Given the description of an element on the screen output the (x, y) to click on. 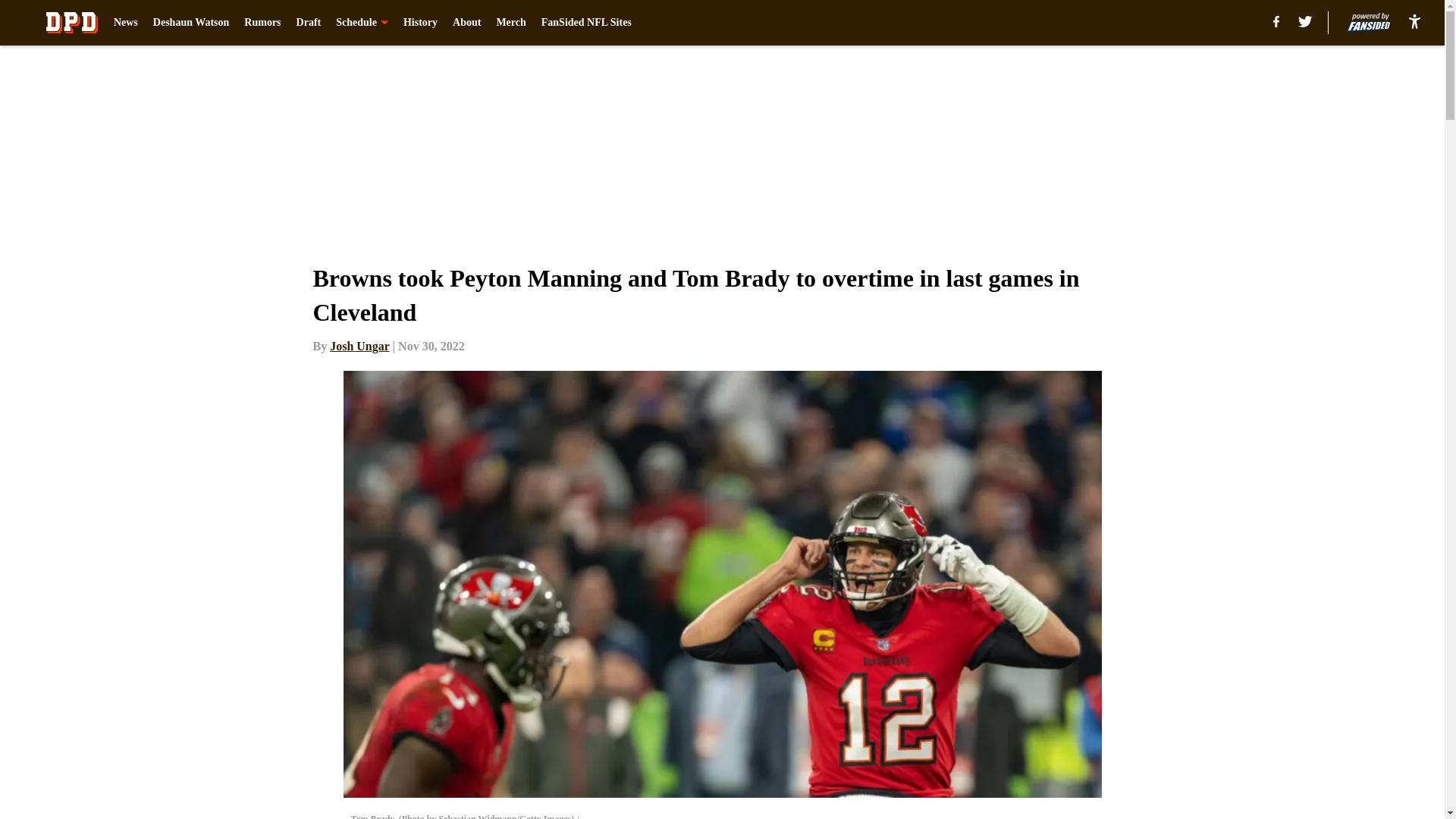
News (125, 22)
Josh Ungar (359, 345)
Rumors (262, 22)
Merch (510, 22)
History (420, 22)
Draft (309, 22)
About (466, 22)
FanSided NFL Sites (586, 22)
Deshaun Watson (191, 22)
